Given the description of an element on the screen output the (x, y) to click on. 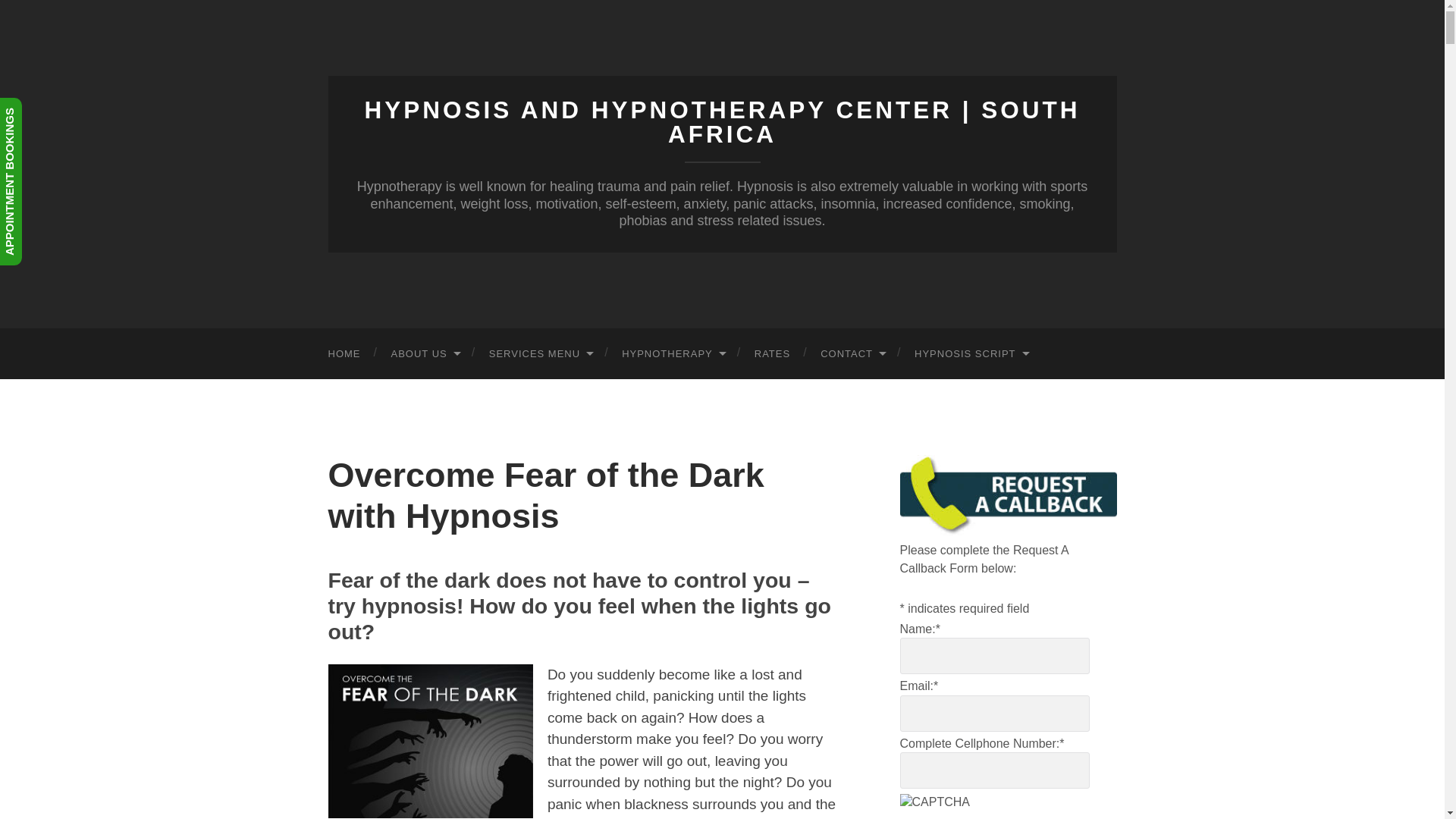
HOME (344, 352)
ABOUT US (424, 352)
CAPTCHA (948, 806)
HYPNOTHERAPY (673, 352)
SERVICES MENU (540, 352)
